Given the description of an element on the screen output the (x, y) to click on. 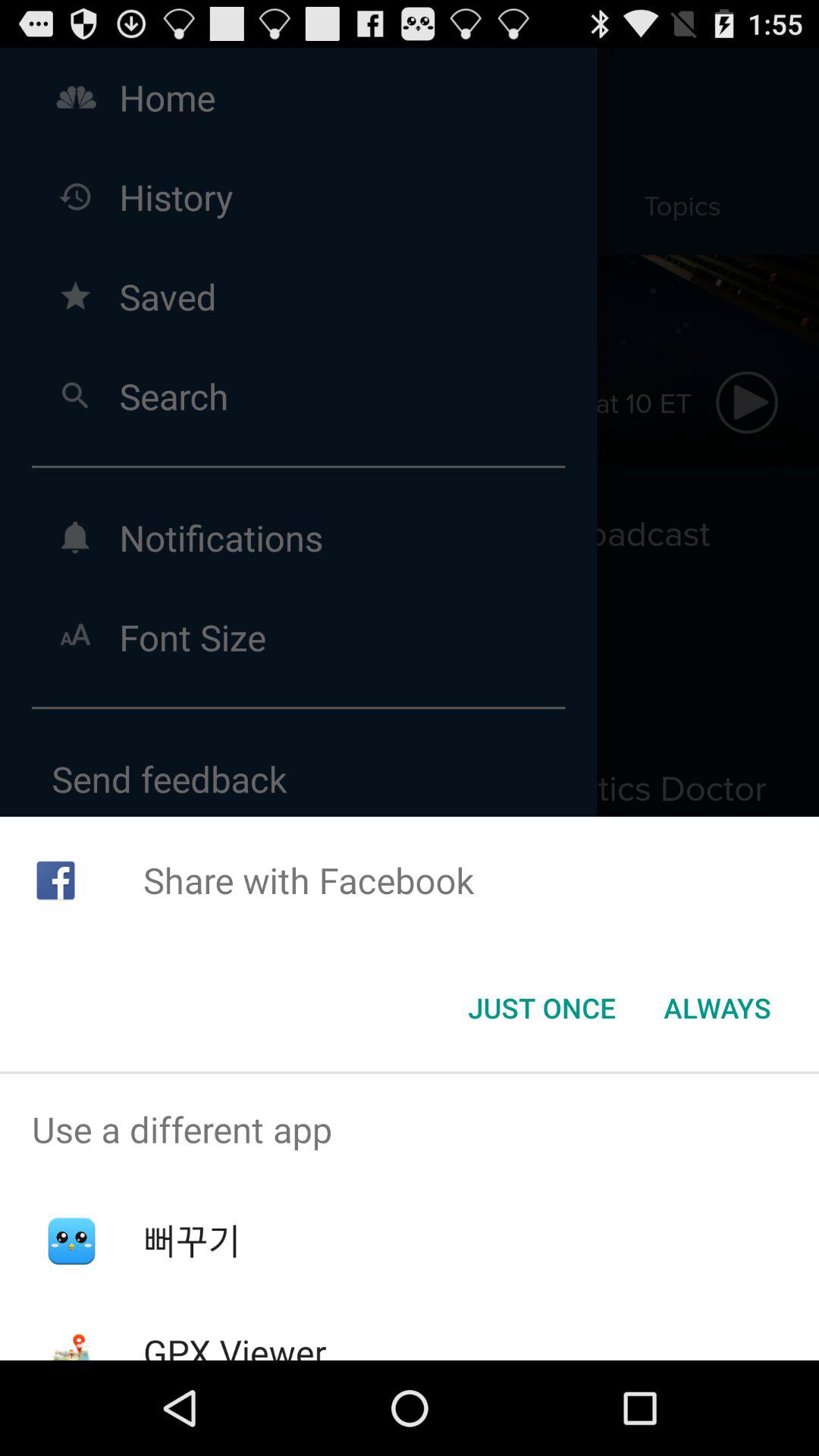
turn off the item above gpx viewer item (191, 1240)
